Given the description of an element on the screen output the (x, y) to click on. 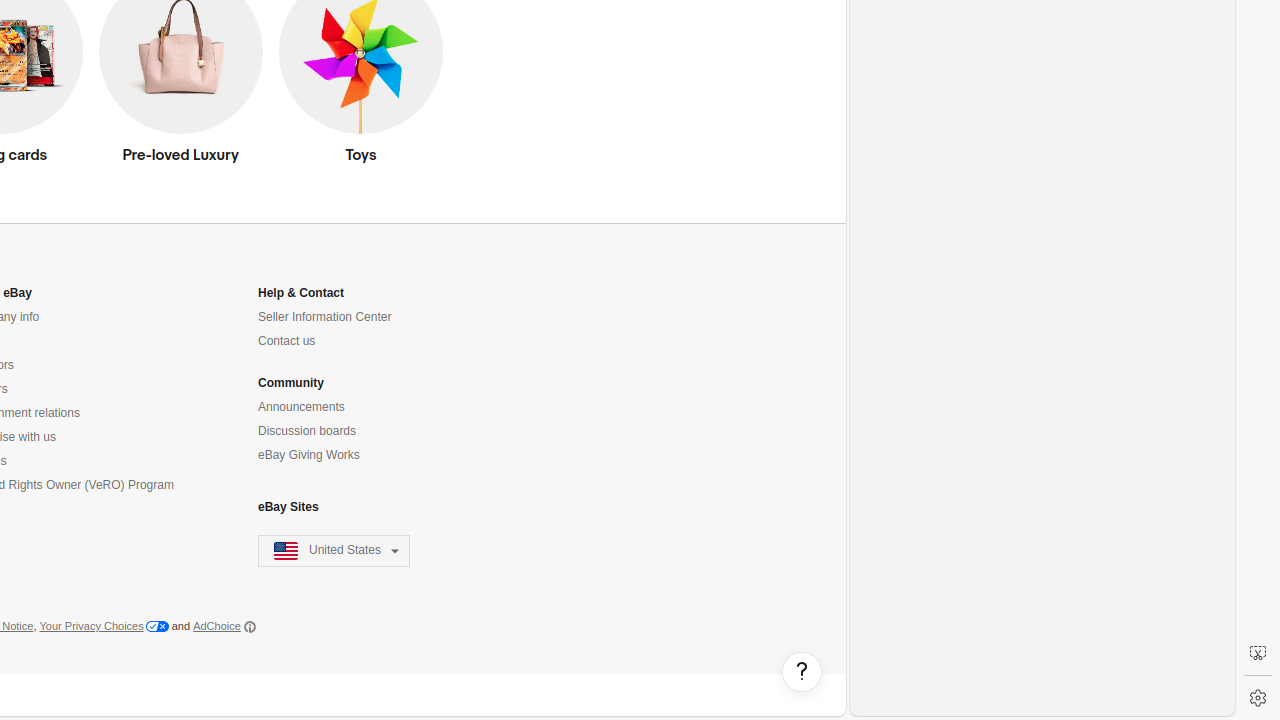
Settings Element type: push-button (1258, 698)
eBay sites,United States Element type: push-button (334, 551)
Community Element type: link (291, 383)
Announcements Element type: link (301, 407)
Help, opens dialogs Element type: push-button (802, 672)
